Given the description of an element on the screen output the (x, y) to click on. 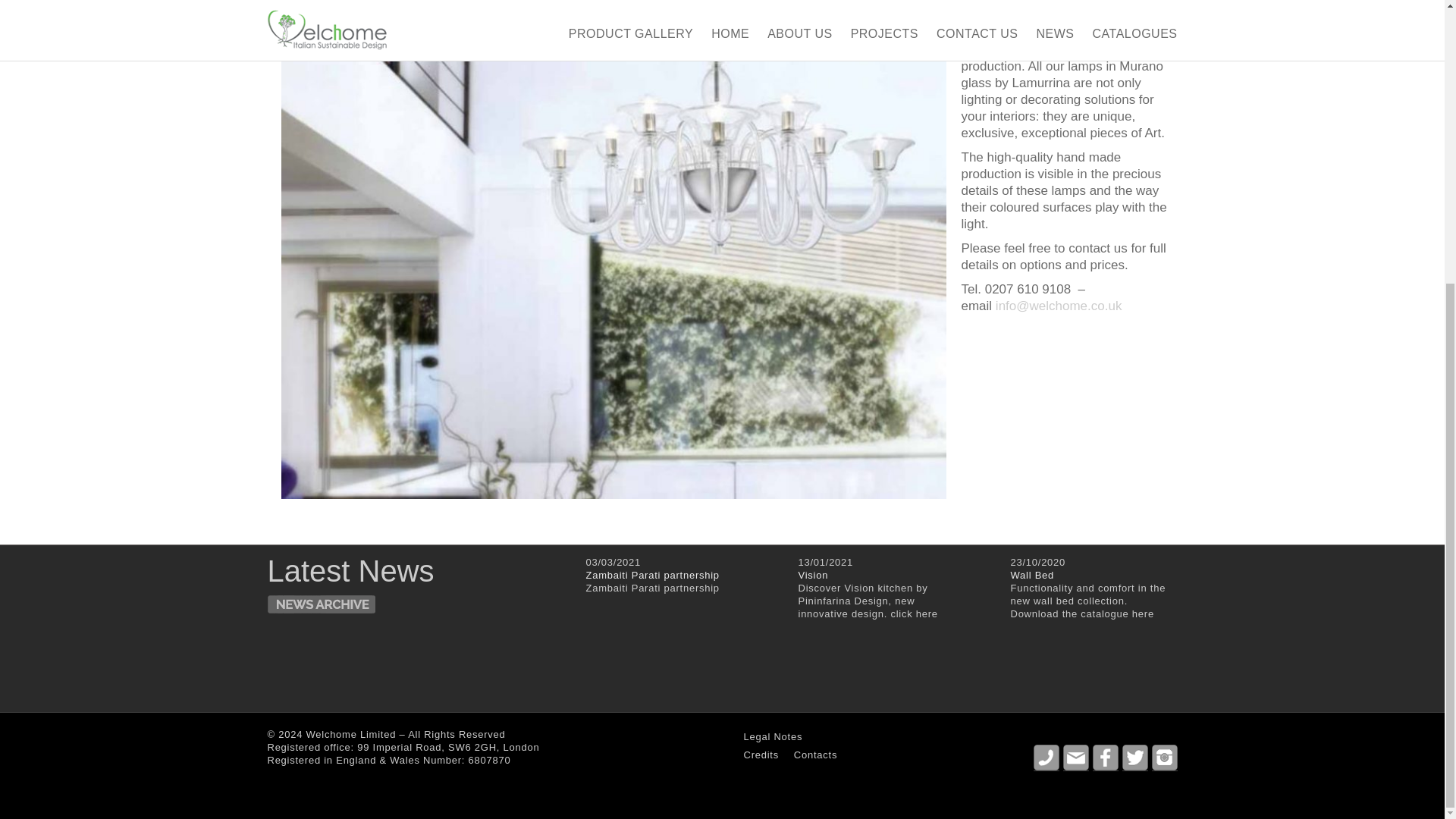
Legal Notes (772, 736)
Credits (760, 754)
Contacts (815, 754)
